Given the description of an element on the screen output the (x, y) to click on. 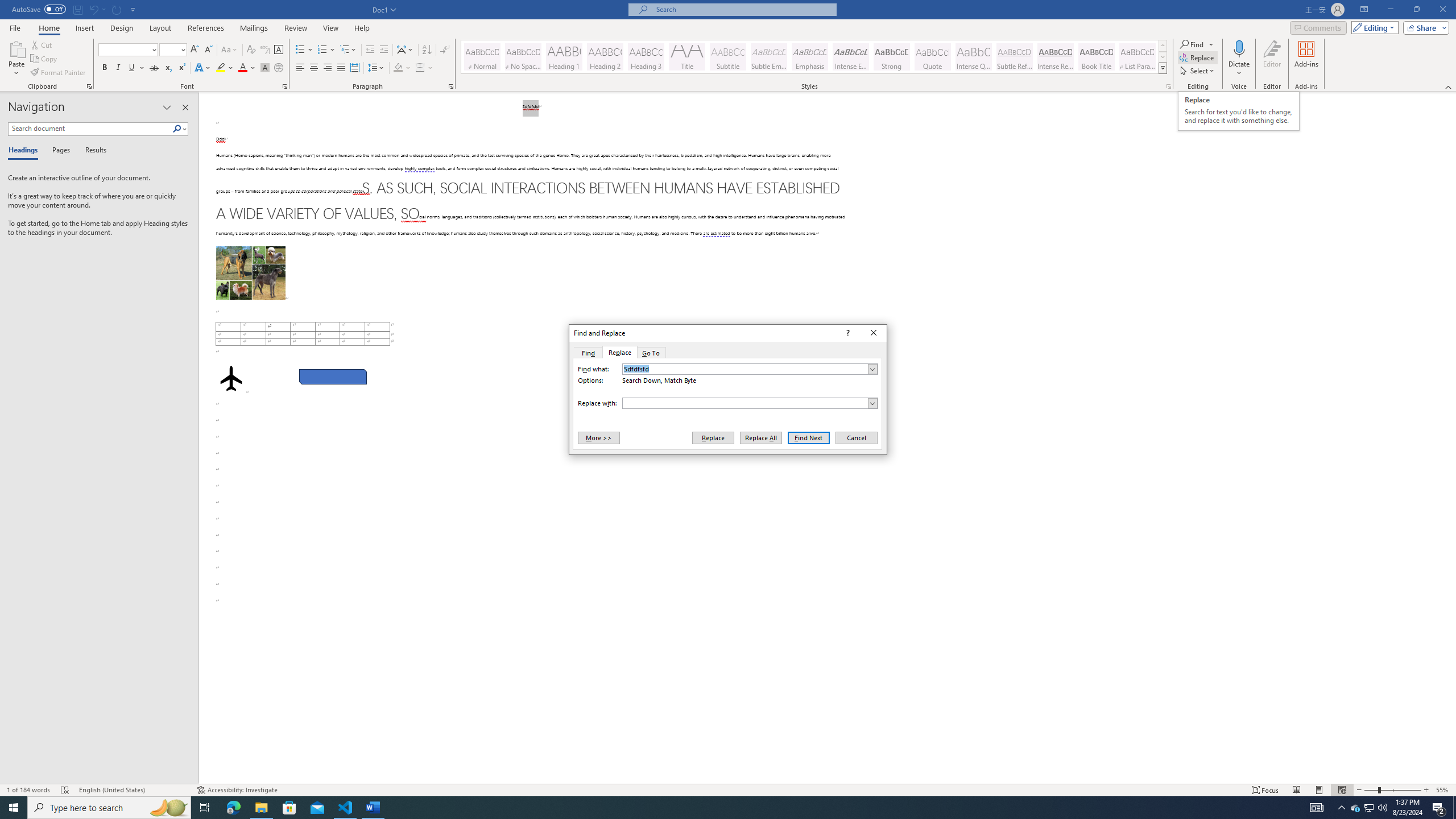
Show desktop (1454, 807)
Enclose Characters... (278, 67)
Repeat Paragraph Alignment (117, 9)
Undo Paragraph Alignment (92, 9)
More >> (598, 437)
Asian Layout (405, 49)
Intense Emphasis (849, 56)
Notification Chevron (1341, 807)
